Given the description of an element on the screen output the (x, y) to click on. 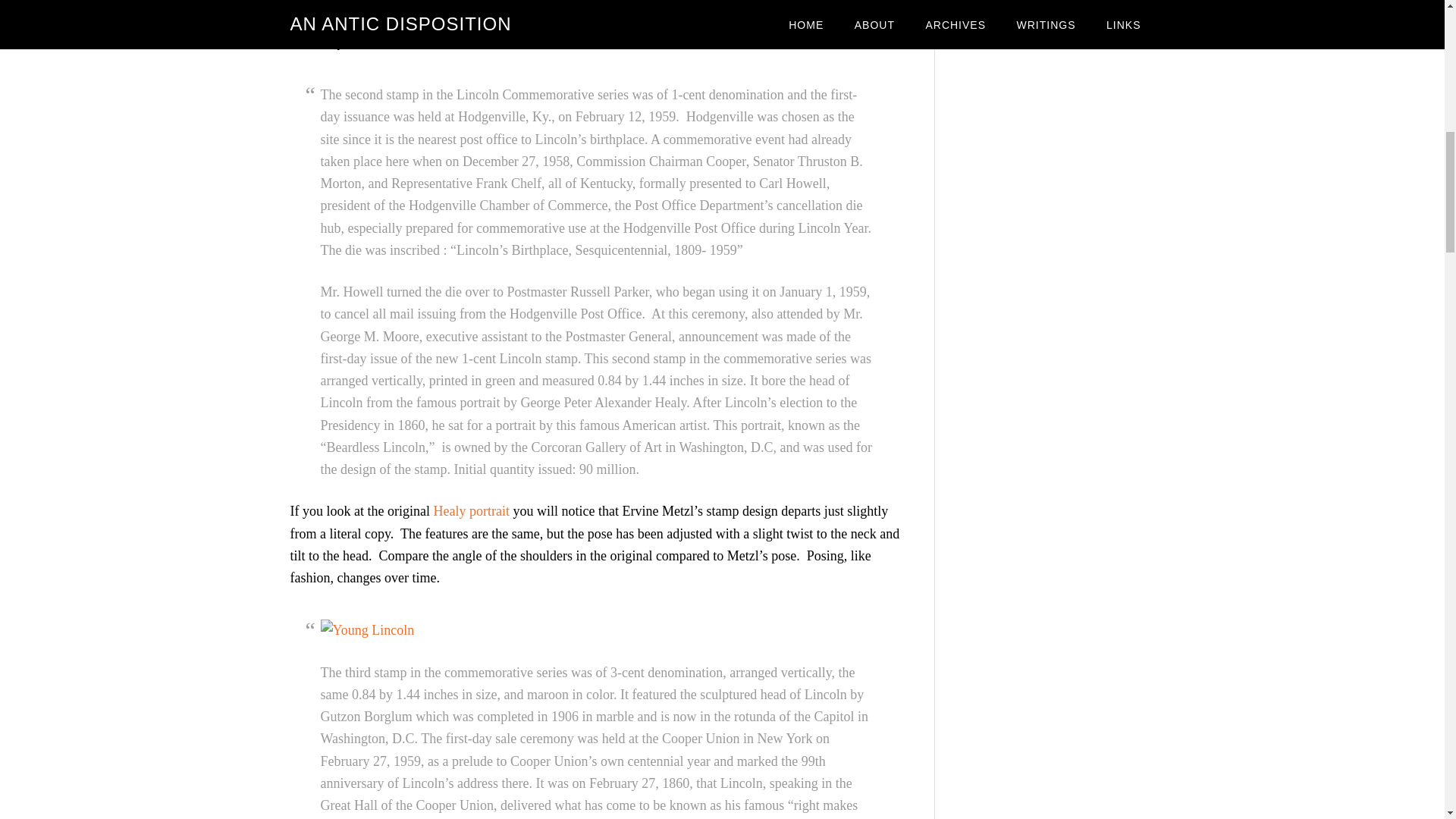
Healy portrait (470, 510)
Young Lincoln (366, 630)
Final Report of the Lincoln Sesquicentennial Commission (472, 20)
